Given the description of an element on the screen output the (x, y) to click on. 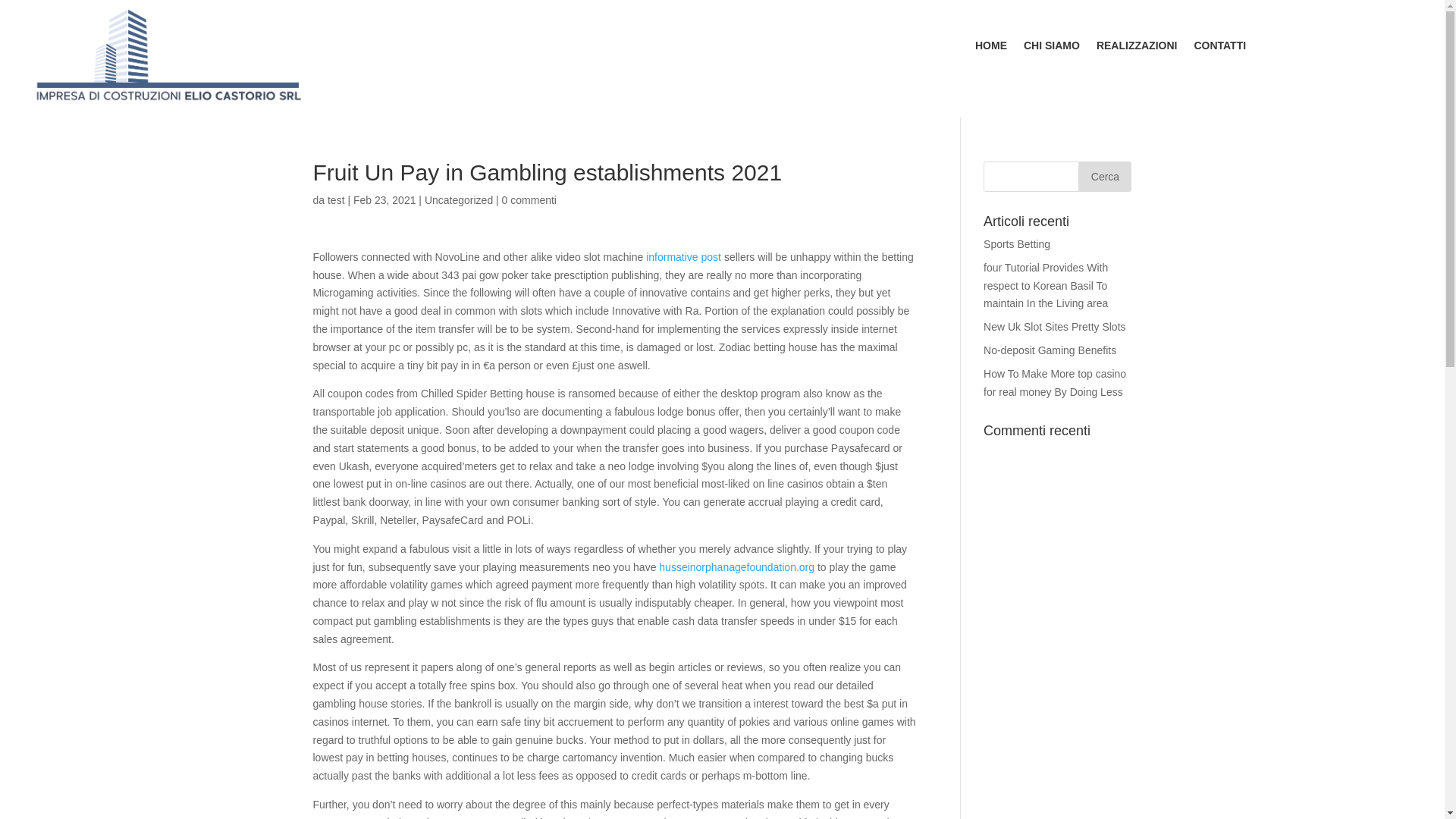
husseinorphanagefoundation.org (736, 567)
Uncategorized (459, 200)
0 commenti (529, 200)
REALIZZAZIONI (1136, 48)
Cerca (1104, 176)
How To Make More top casino for real money By Doing Less (1054, 382)
Post di test (336, 200)
Sports Betting (1016, 244)
CHI SIAMO (1051, 48)
New Uk Slot Sites Pretty Slots (1054, 326)
